Given the description of an element on the screen output the (x, y) to click on. 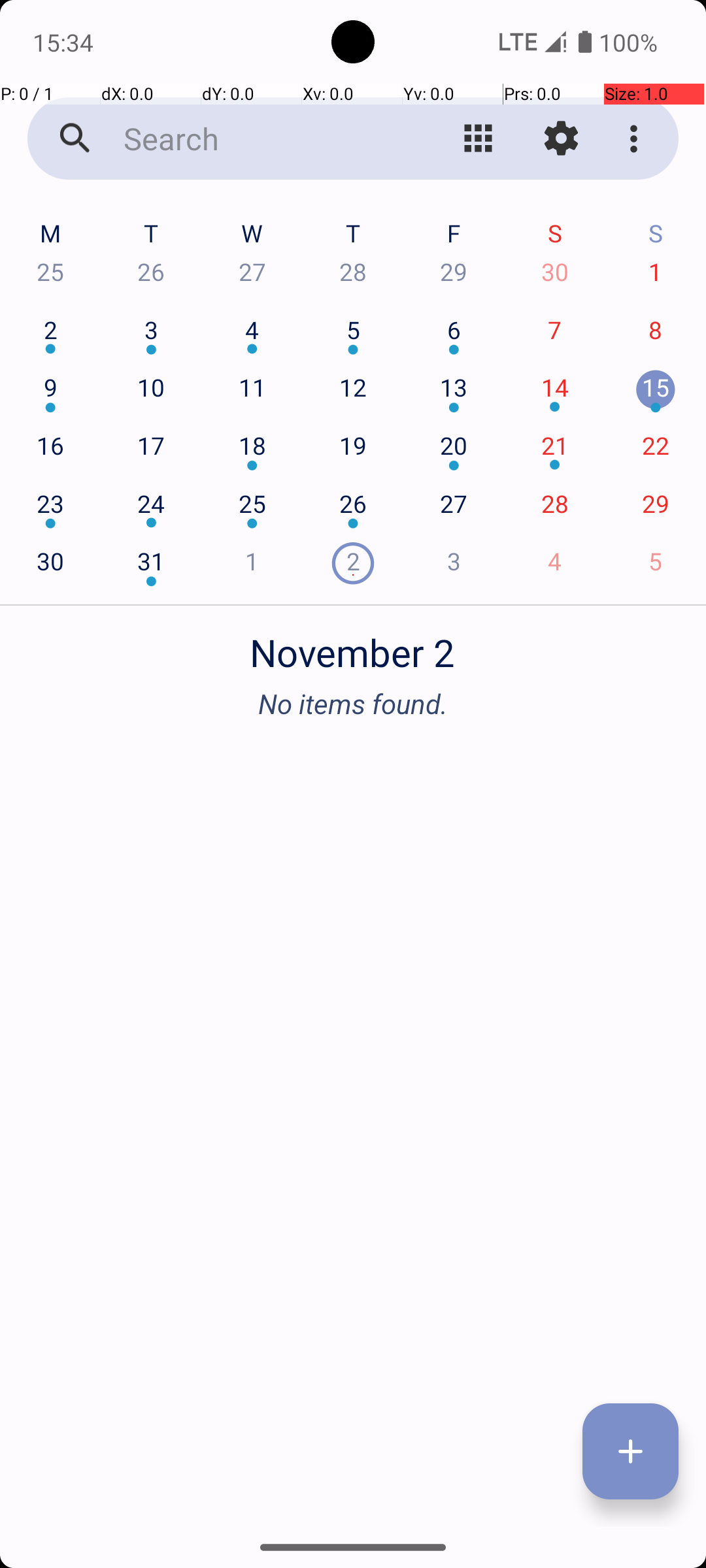
November 2 Element type: android.widget.TextView (352, 644)
